Given the description of an element on the screen output the (x, y) to click on. 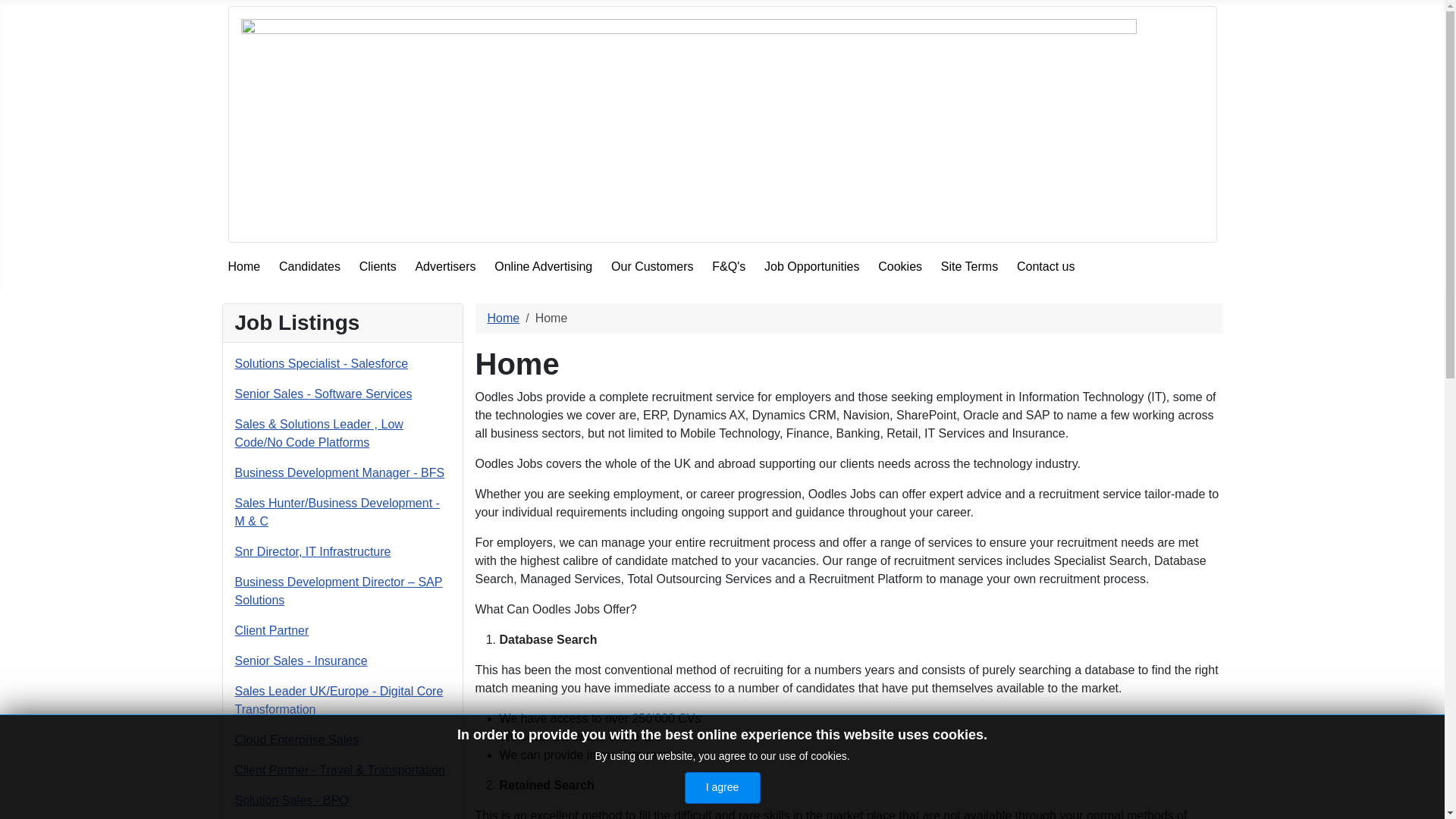
Client Partner (271, 630)
Solution Sales - BPO (291, 799)
Candidates (309, 266)
Solutions Specialist - Salesforce (321, 363)
Cloud Enterprise Sales (296, 739)
Home (502, 318)
Advertisers (445, 266)
Online Advertising (543, 266)
Snr Director, IT Infrastructure (312, 551)
Job Opportunities (811, 266)
